Given the description of an element on the screen output the (x, y) to click on. 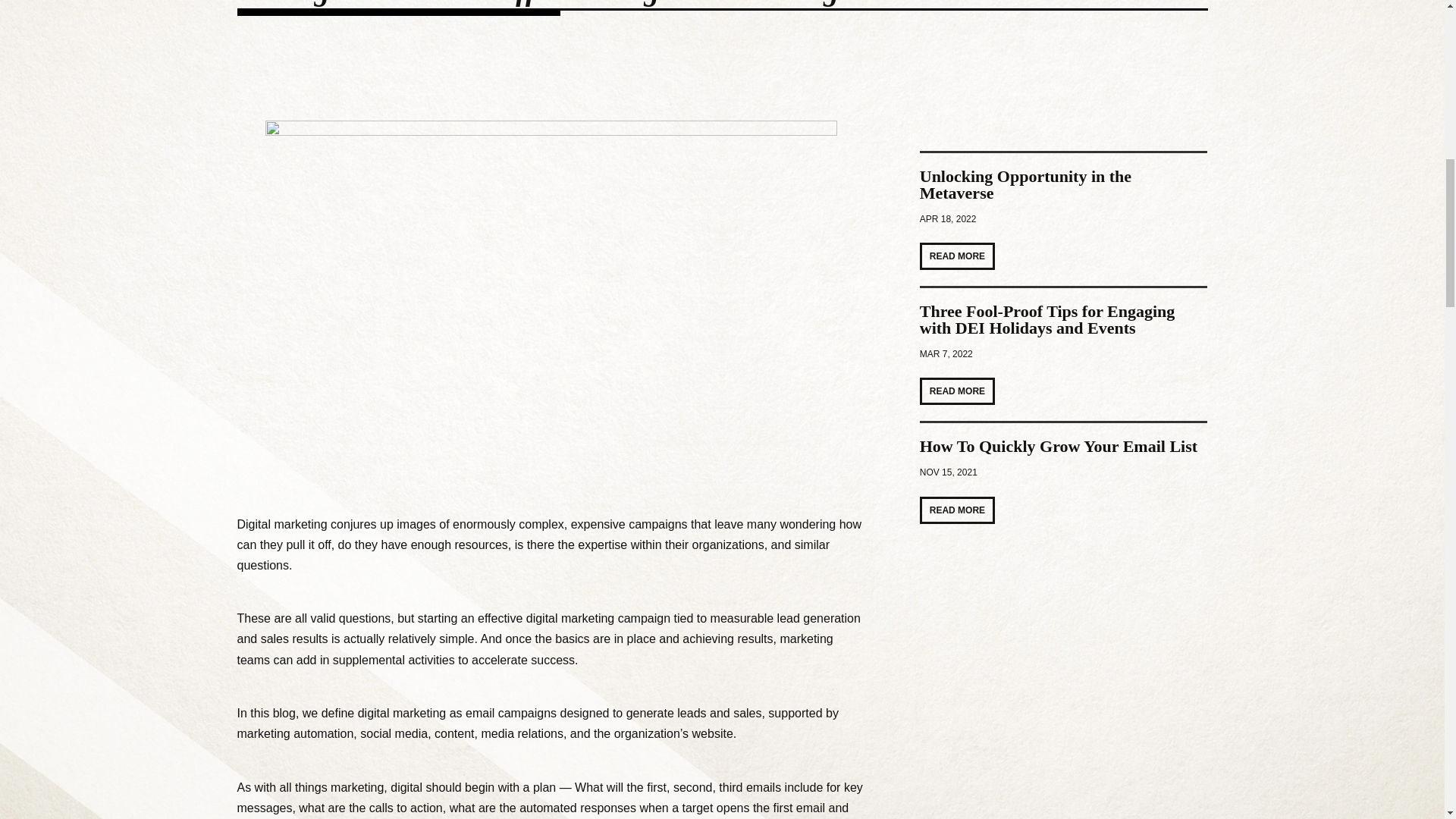
How To Quickly Grow Your Email List (1058, 445)
READ MORE (957, 510)
READ MORE (957, 390)
Unlocking Opportunity in the Metaverse (1025, 184)
READ MORE (957, 256)
